Given the description of an element on the screen output the (x, y) to click on. 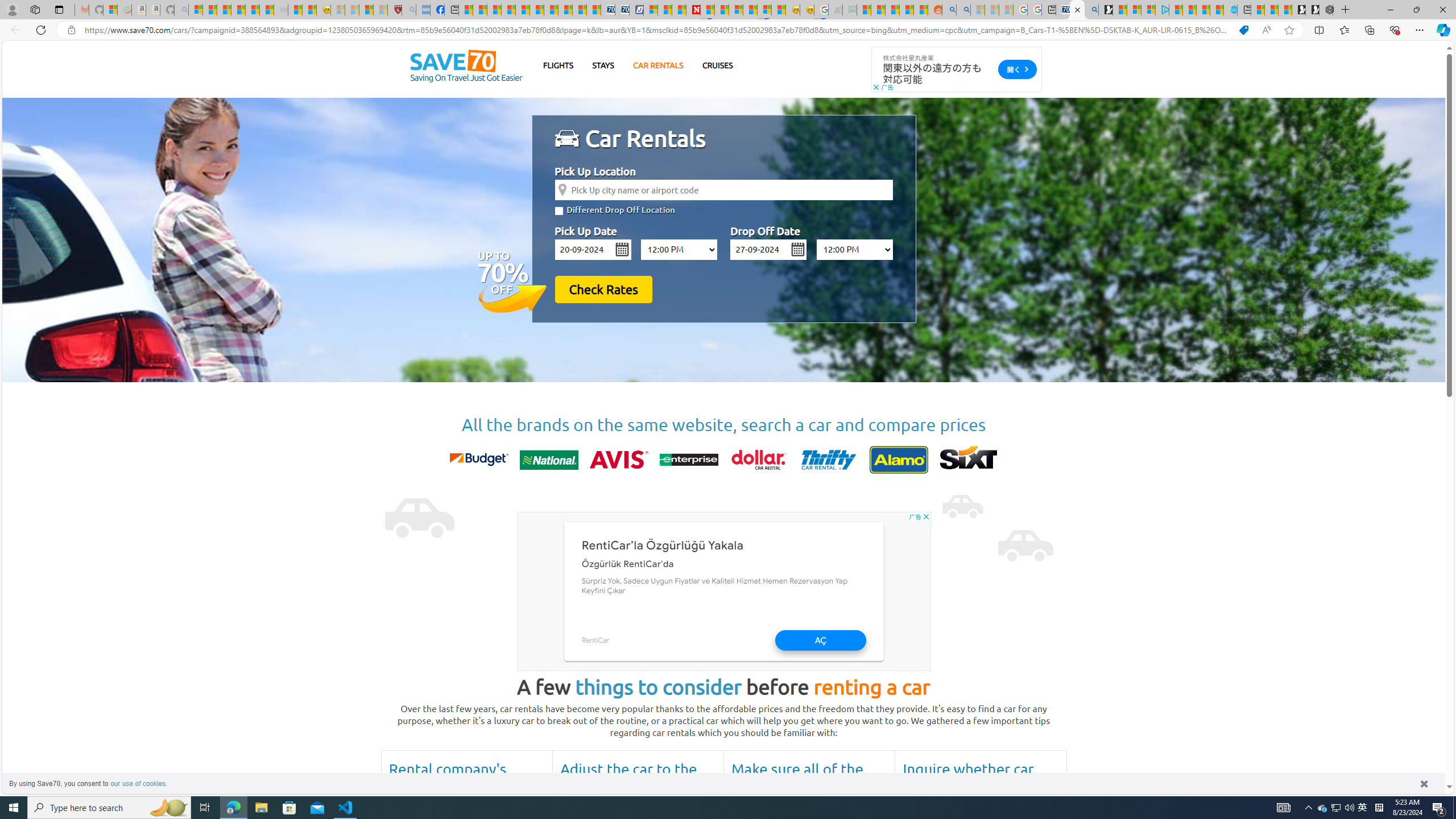
Microsoft Start (1202, 9)
Browser essentials (1394, 29)
NCL Adult Asthma Inhaler Choice Guideline - Sleeping (422, 9)
Minimize (1390, 9)
Homepage (465, 66)
CRUISES (717, 65)
Settings and more (Alt+F) (1419, 29)
Science - MSN (365, 9)
mm/dd/yy (768, 249)
